Given the description of an element on the screen output the (x, y) to click on. 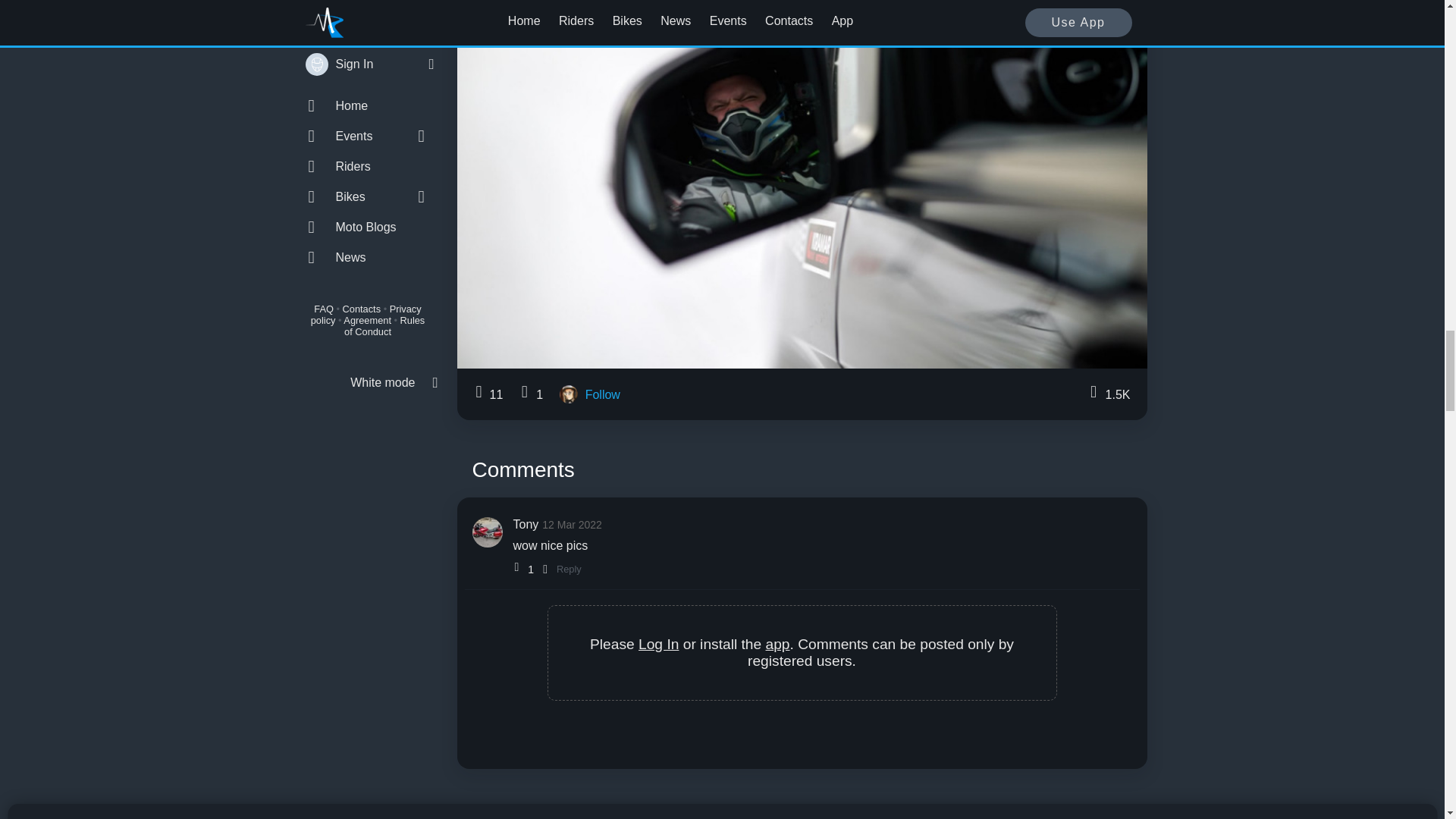
Tony (525, 523)
Log In (658, 643)
app (777, 643)
